Given the description of an element on the screen output the (x, y) to click on. 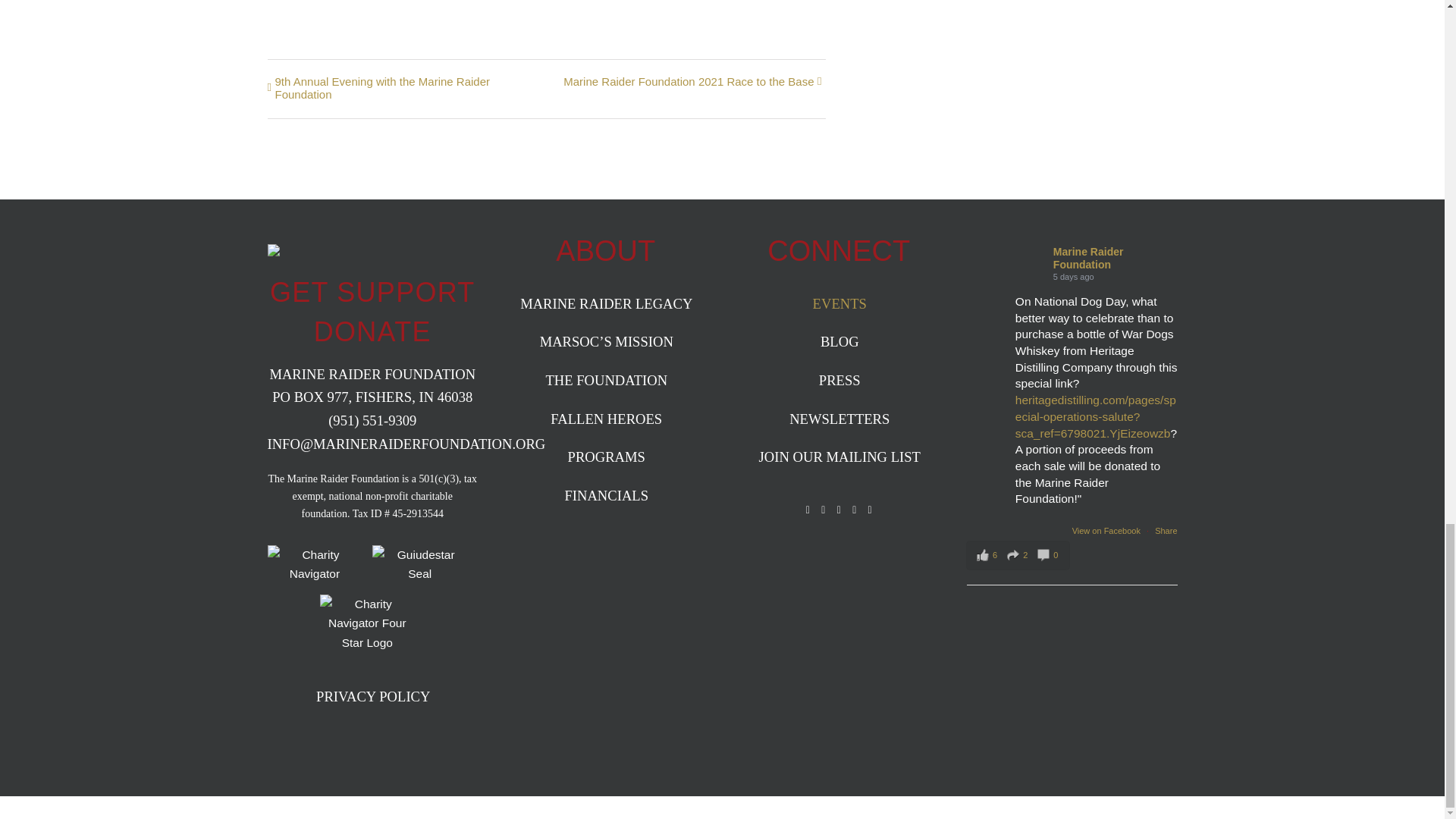
Share (1165, 530)
View on Facebook (1106, 530)
Likebox Content (1071, 643)
